Given the description of an element on the screen output the (x, y) to click on. 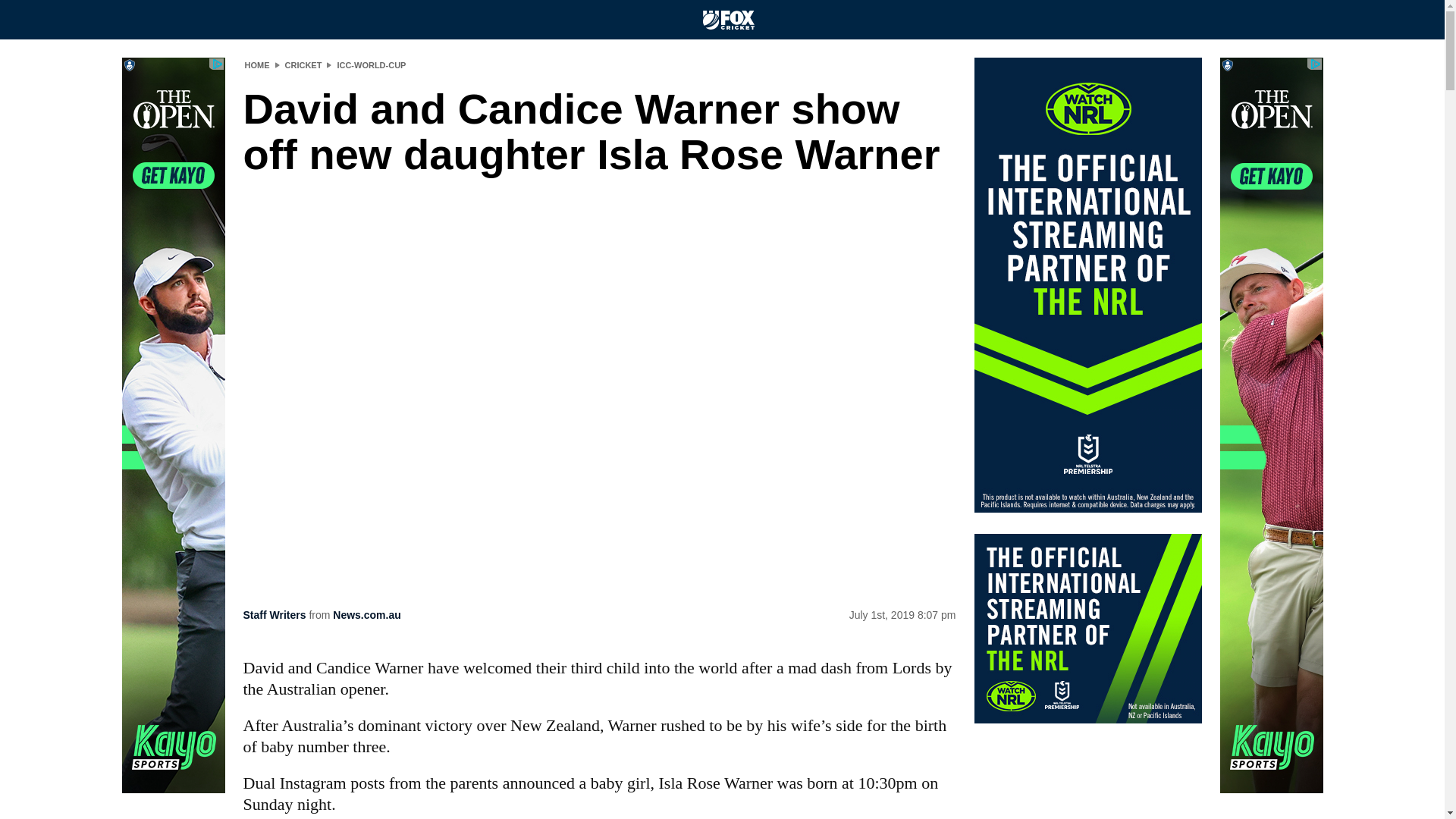
3rd party ad content (1087, 628)
ICC-WORLD-CUP (370, 64)
3rd party ad content (1087, 284)
CRICKET (303, 64)
HOME (256, 64)
3rd party ad content (1271, 425)
3rd party ad content (172, 425)
